Given the description of an element on the screen output the (x, y) to click on. 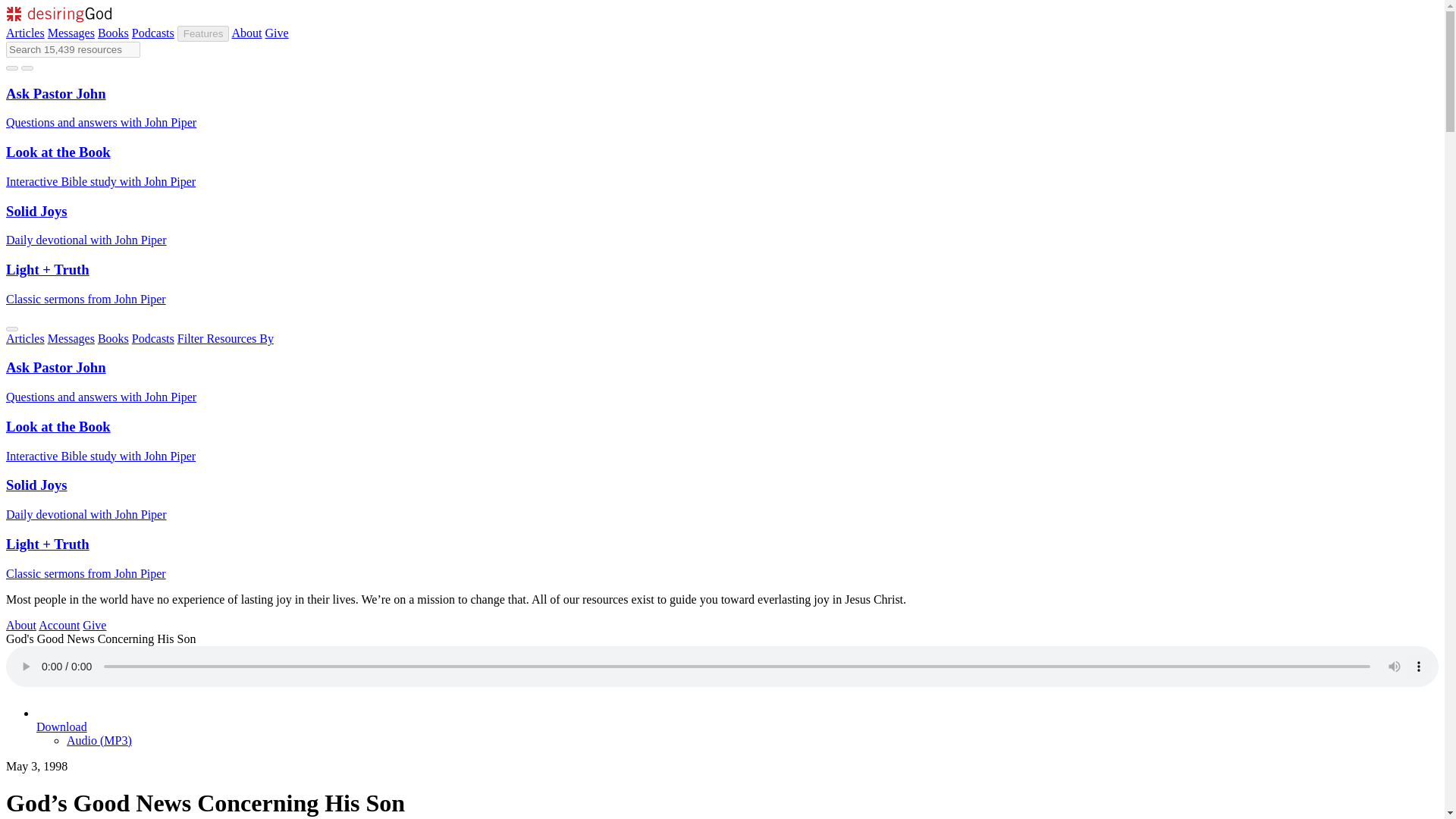
Articles (25, 32)
Messages (71, 32)
About (246, 32)
Articles (25, 338)
Podcasts (153, 338)
Books (113, 32)
Filter Resources By (225, 338)
Give (276, 32)
Books (113, 338)
Messages (71, 338)
